Given the description of an element on the screen output the (x, y) to click on. 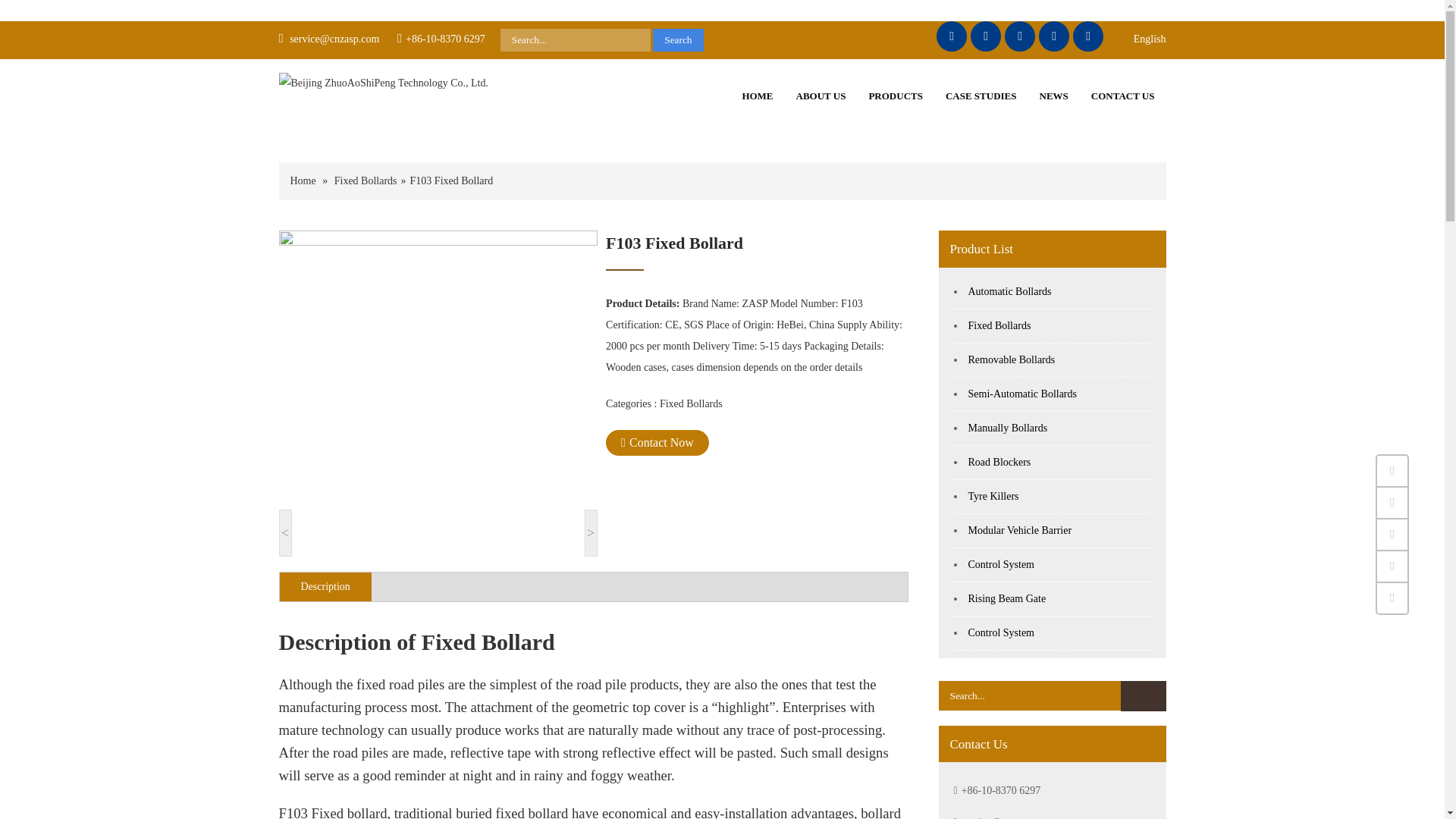
facebook (951, 36)
Search (1143, 695)
Search (677, 39)
twitter (986, 36)
CASE STUDIES (980, 95)
Search (1143, 695)
ABOUT US (820, 95)
linkedin (1019, 36)
whatsApp (1053, 36)
Search (677, 39)
youtube (1088, 36)
PRODUCTS (895, 95)
Search (677, 39)
